Given the description of an element on the screen output the (x, y) to click on. 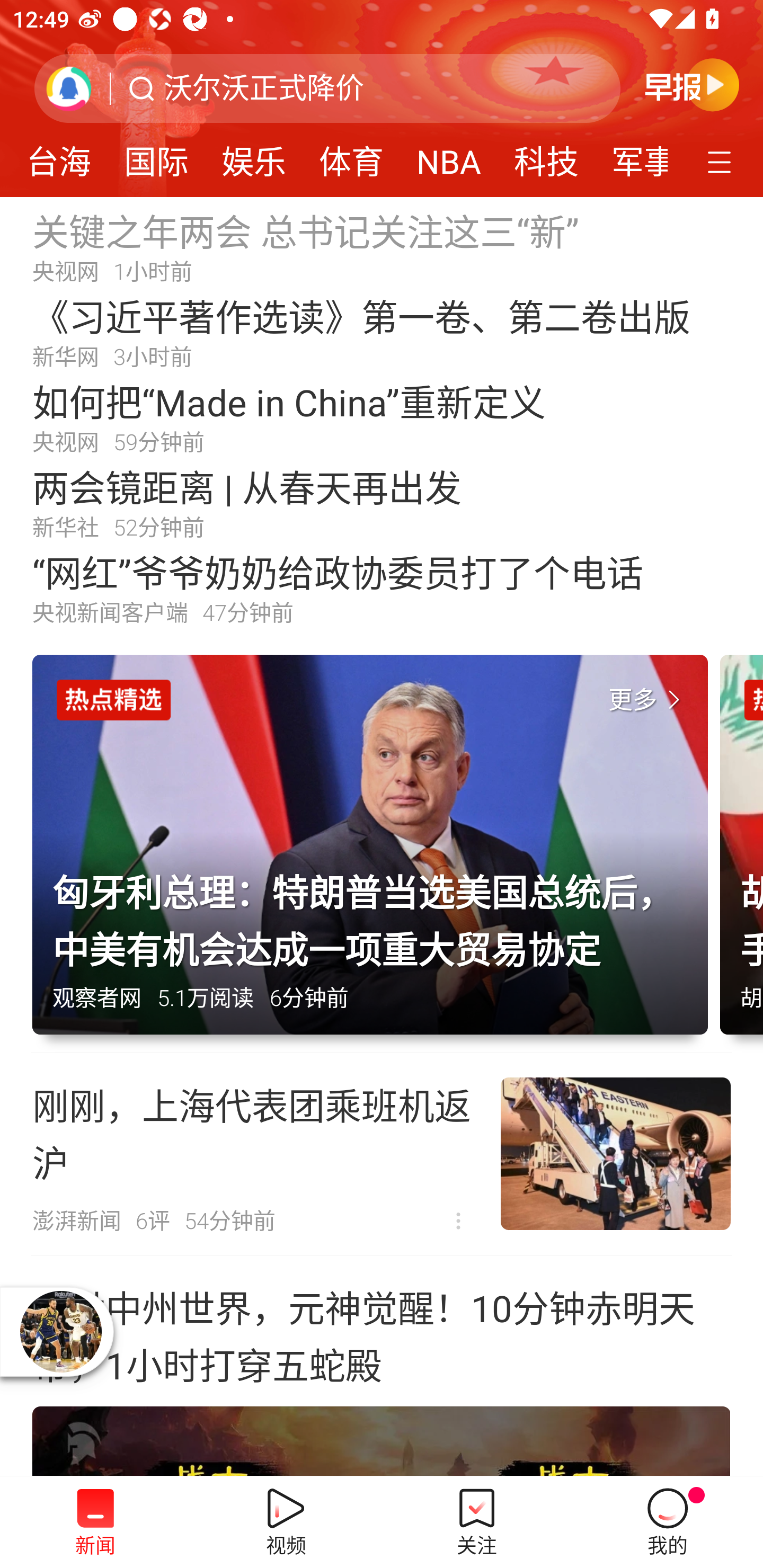
早晚报 (691, 84)
刷新 (68, 88)
沃尔沃正式降价 (263, 88)
台海 (61, 155)
国际 (156, 155)
娱乐 (253, 155)
体育 (350, 155)
NBA (448, 155)
科技 (546, 155)
军事 (631, 155)
 定制频道 (721, 160)
关键之年两会 总书记关注这三“新” 央视网 1小时前 (381, 245)
《习近平著作选读》第一卷、第二卷出版 新华网 3小时前 (381, 331)
如何把“Made in China”重新定义 央视网 59分钟前 (381, 416)
两会镜距离 | 从春天再出发 新华社 52分钟前 (381, 502)
“网红”爷爷奶奶给政协委员打了个电话 央视新闻客户端 47分钟前 (381, 587)
更多  (648, 699)
刚刚，上海代表团乘班机返沪 澎湃新闻 6评 54分钟前  不感兴趣 (381, 1153)
 不感兴趣 (458, 1221)
播放器 (60, 1331)
